Given the description of an element on the screen output the (x, y) to click on. 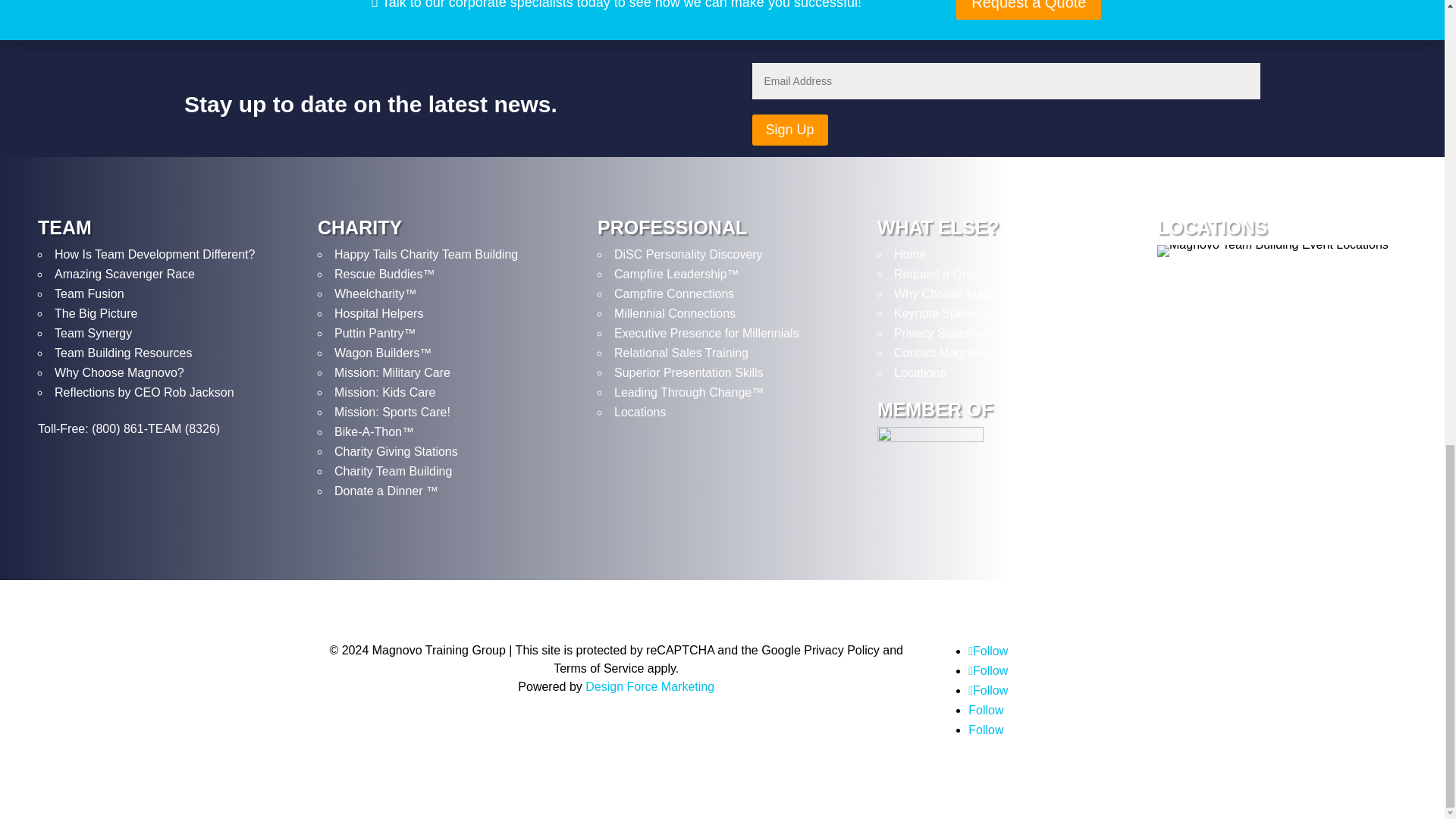
Follow on LinkedIn (985, 709)
Magnovo-Team-Building-Event-Locations (1273, 250)
Follow on Facebook (987, 650)
Follow on Youtube (985, 729)
Follow on Instagram (987, 670)
Follow on X (987, 689)
nsa-logo (930, 464)
